Given the description of an element on the screen output the (x, y) to click on. 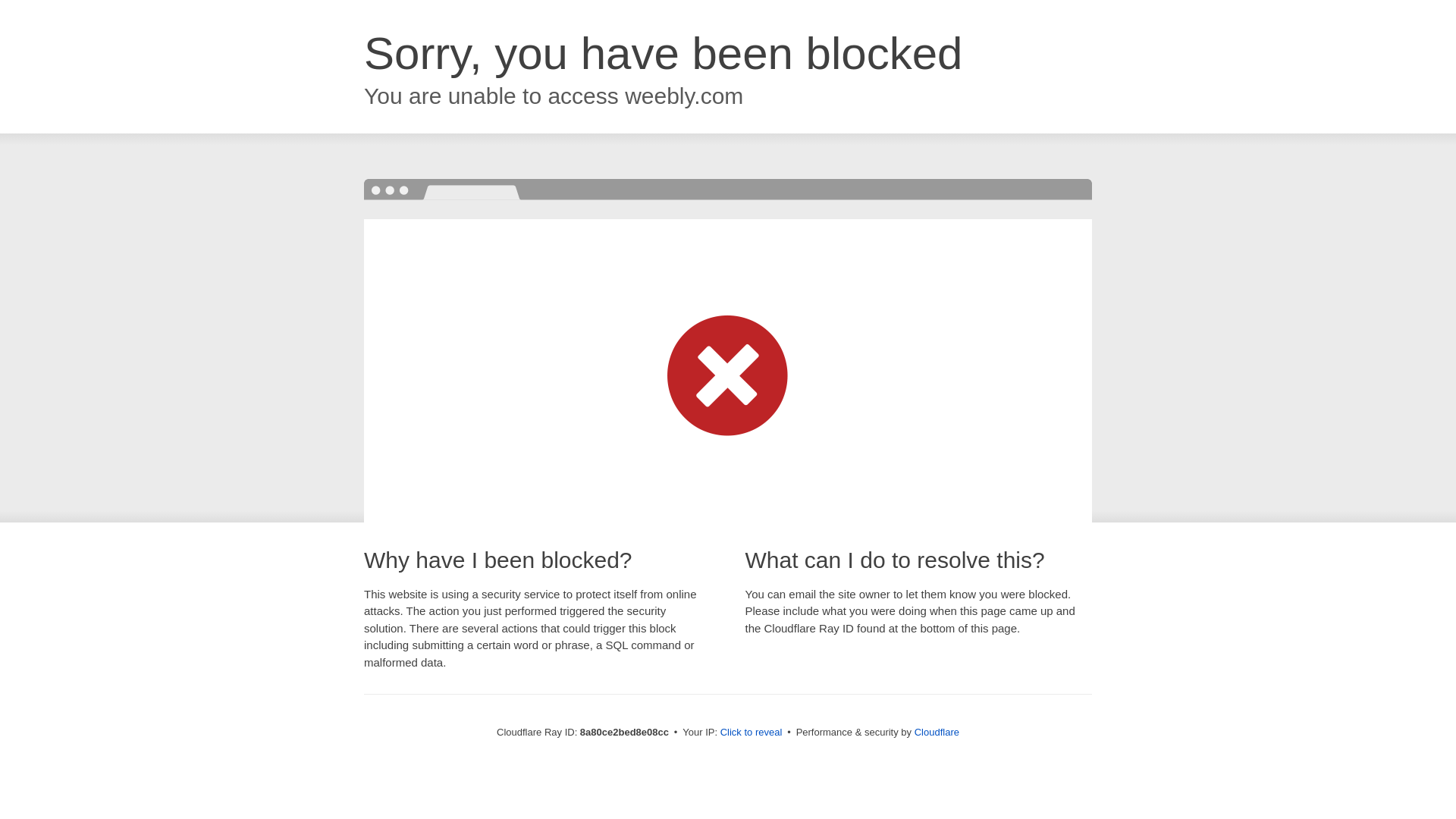
Click to reveal (751, 732)
Cloudflare (936, 731)
